Given the description of an element on the screen output the (x, y) to click on. 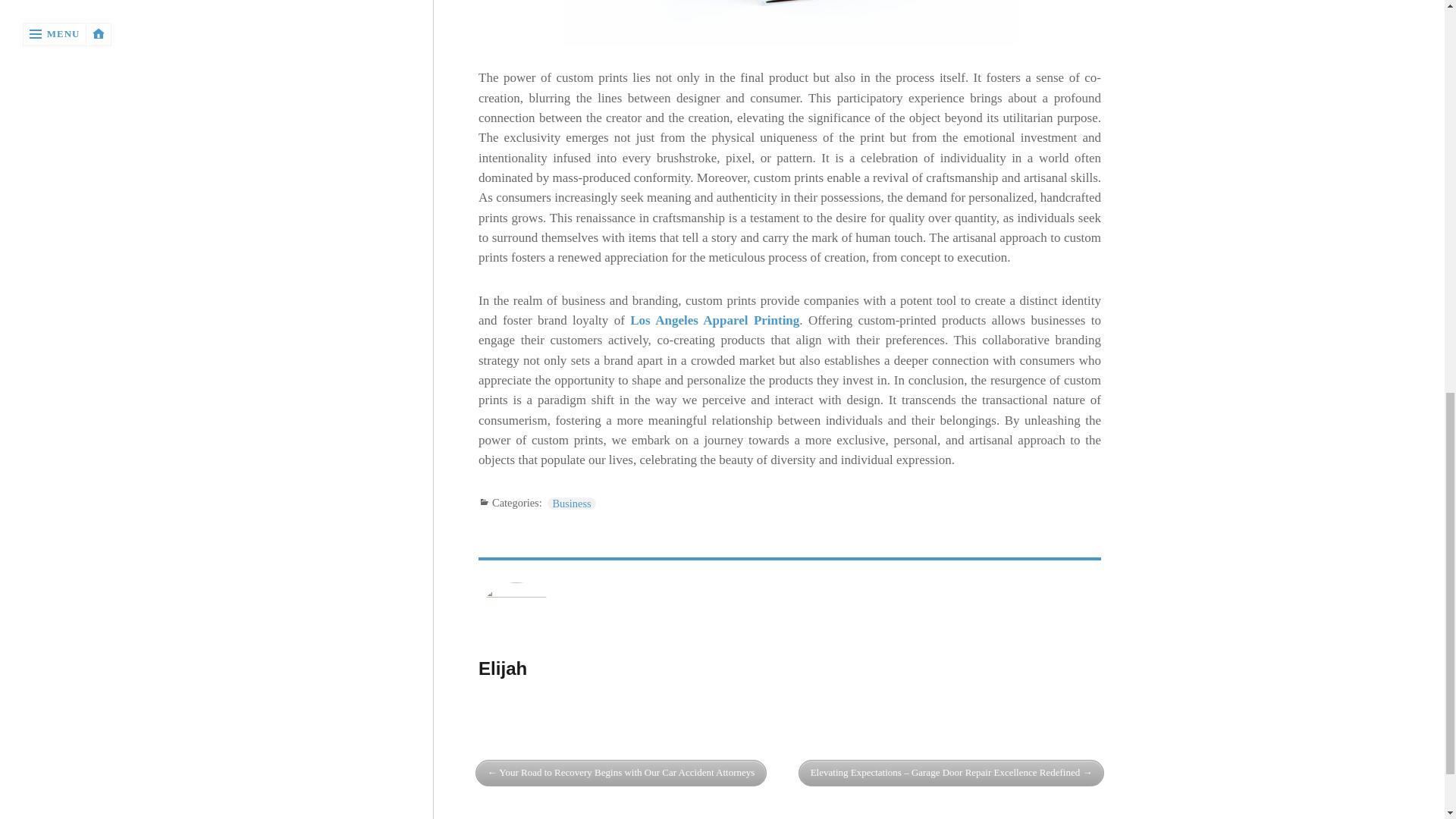
Your Road to Recovery Begins with Our Car Accident Attorneys (621, 773)
Los Angeles Apparel Printing (714, 319)
Business (571, 503)
